Given the description of an element on the screen output the (x, y) to click on. 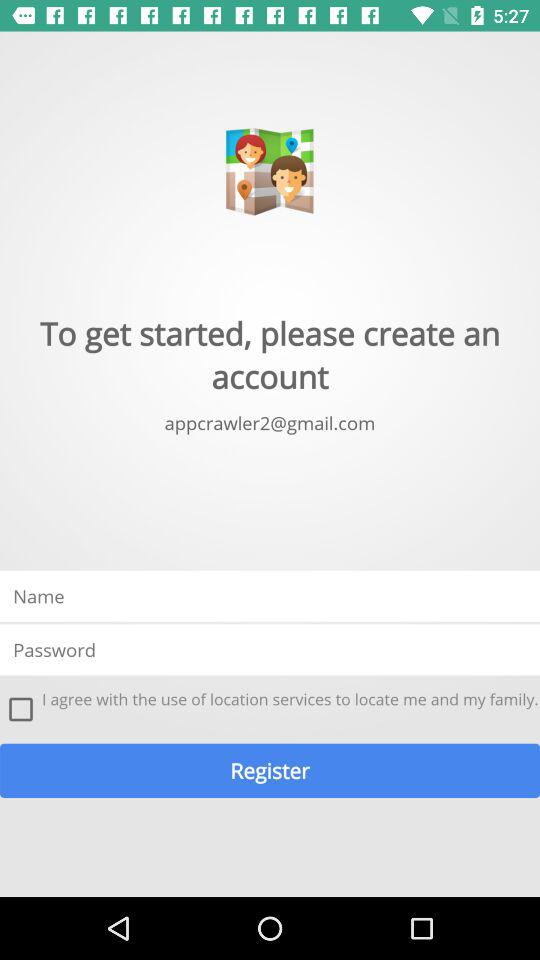
type name (270, 595)
